Given the description of an element on the screen output the (x, y) to click on. 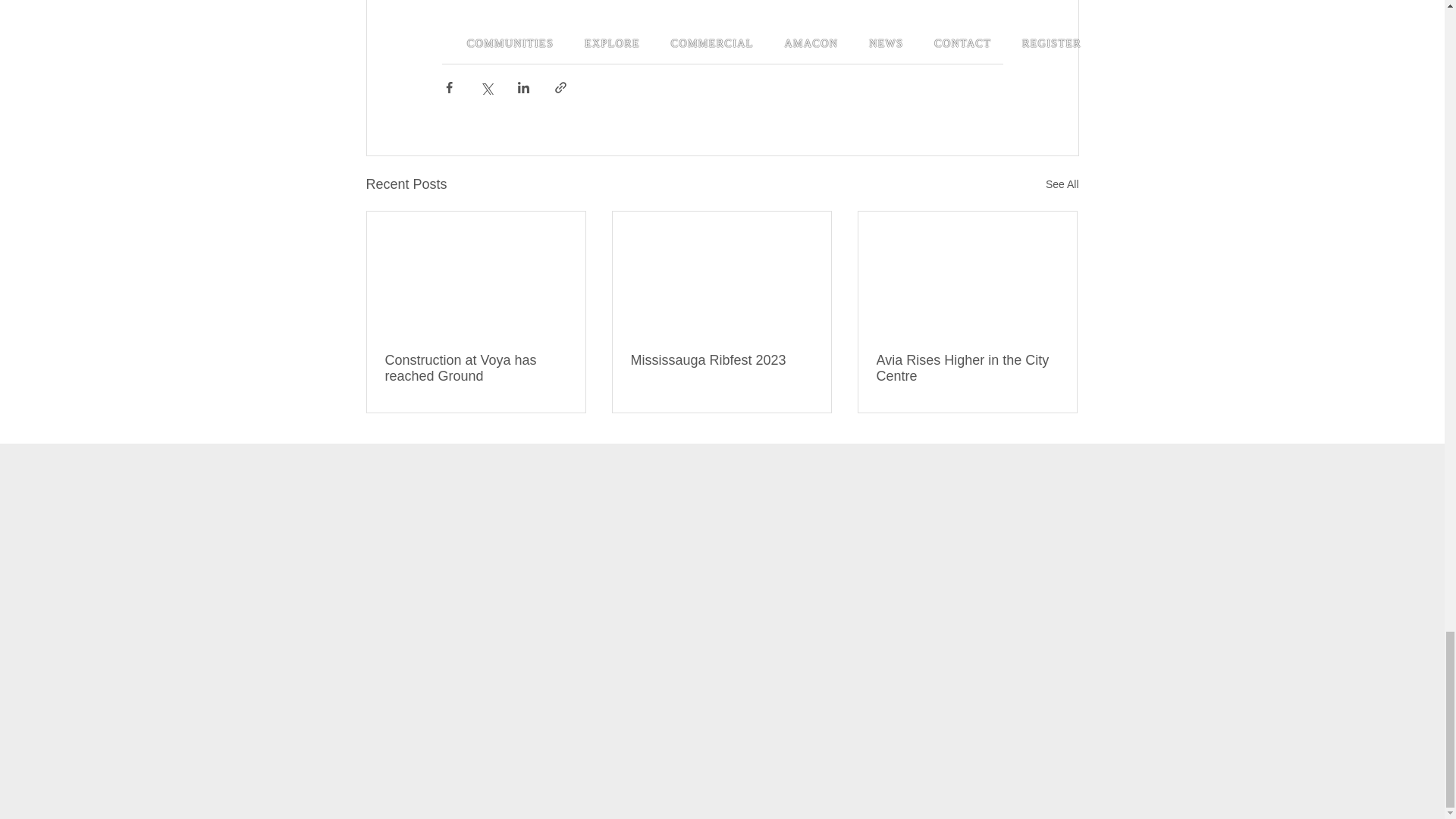
Mississauga Ribfest 2023 (721, 360)
Construction at Voya has reached Ground (476, 368)
See All (1061, 184)
Avia Rises Higher in the City Centre (967, 368)
